Given the description of an element on the screen output the (x, y) to click on. 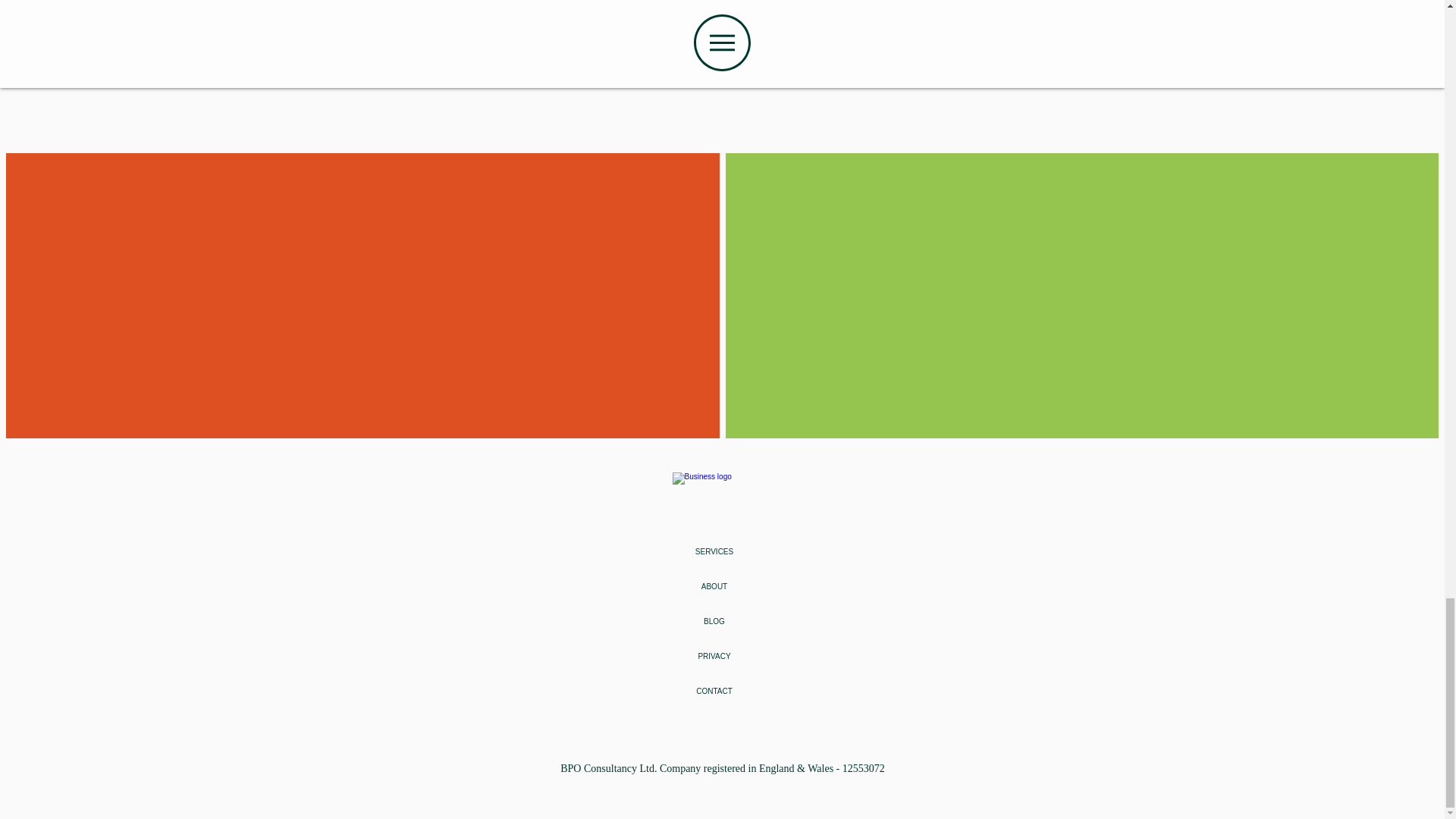
BLOG (713, 621)
PRIVACY (713, 656)
ABOUT (713, 586)
CONTACT (713, 691)
SERVICES (713, 551)
